Given the description of an element on the screen output the (x, y) to click on. 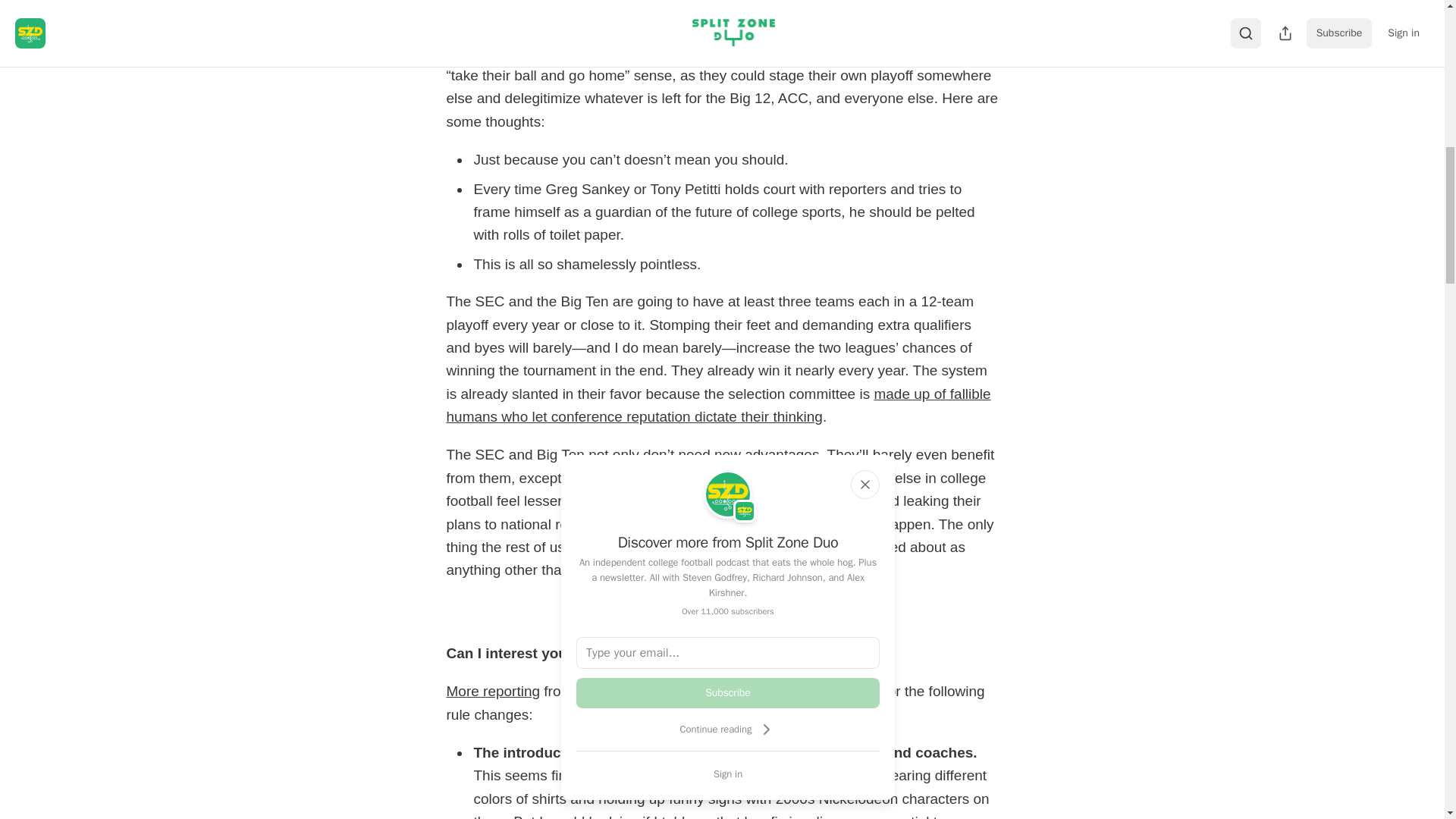
Subscribe (827, 612)
Subscribe (727, 693)
Sign in (727, 773)
should go to the champions of the Big Ten and the SEC (718, 18)
More reporting (492, 691)
